Given the description of an element on the screen output the (x, y) to click on. 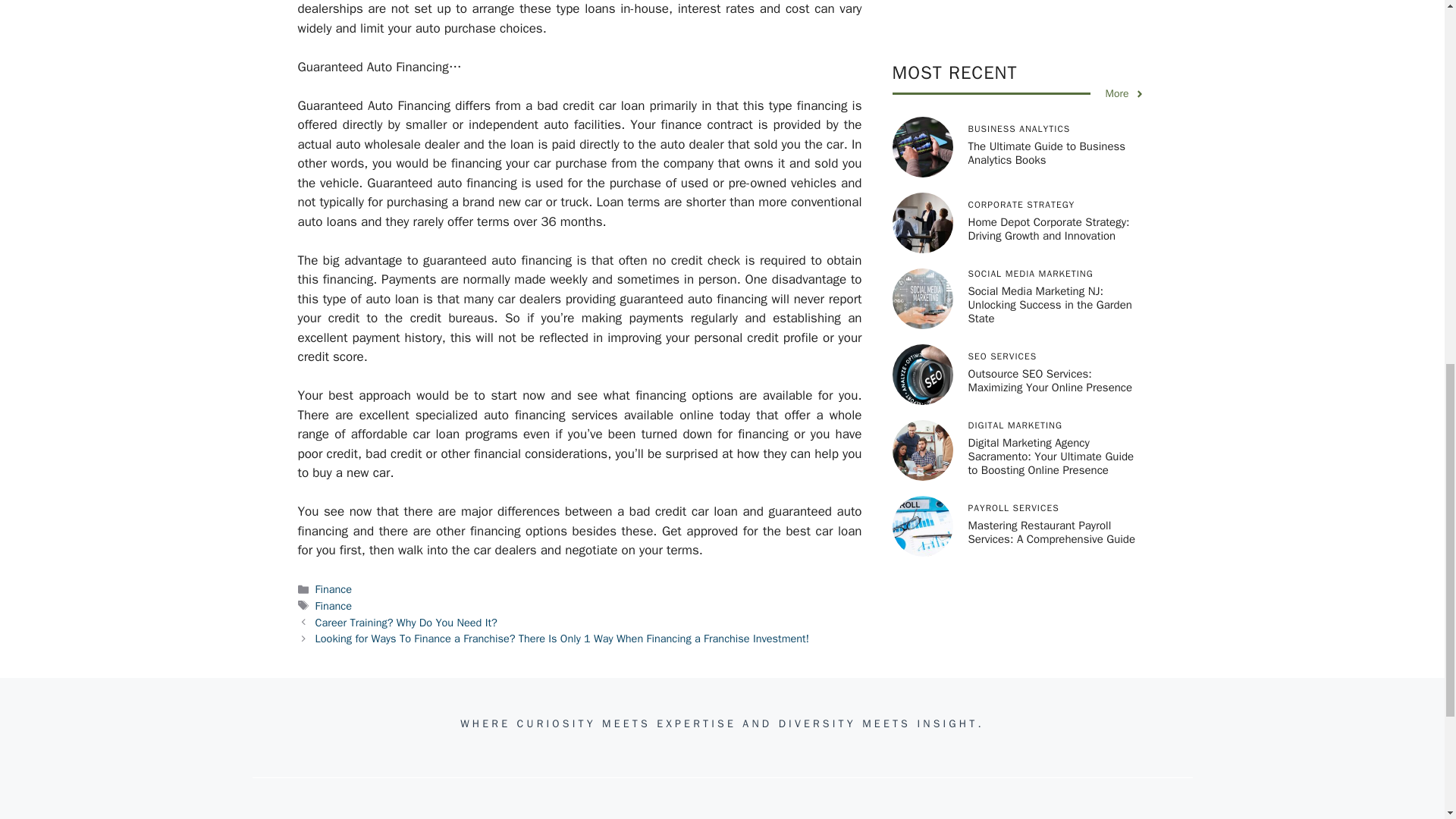
Finance (333, 605)
Mastering Restaurant Payroll Services: A Comprehensive Guide (1051, 103)
Finance (333, 589)
Career Training? Why Do You Need It? (406, 622)
